Given the description of an element on the screen output the (x, y) to click on. 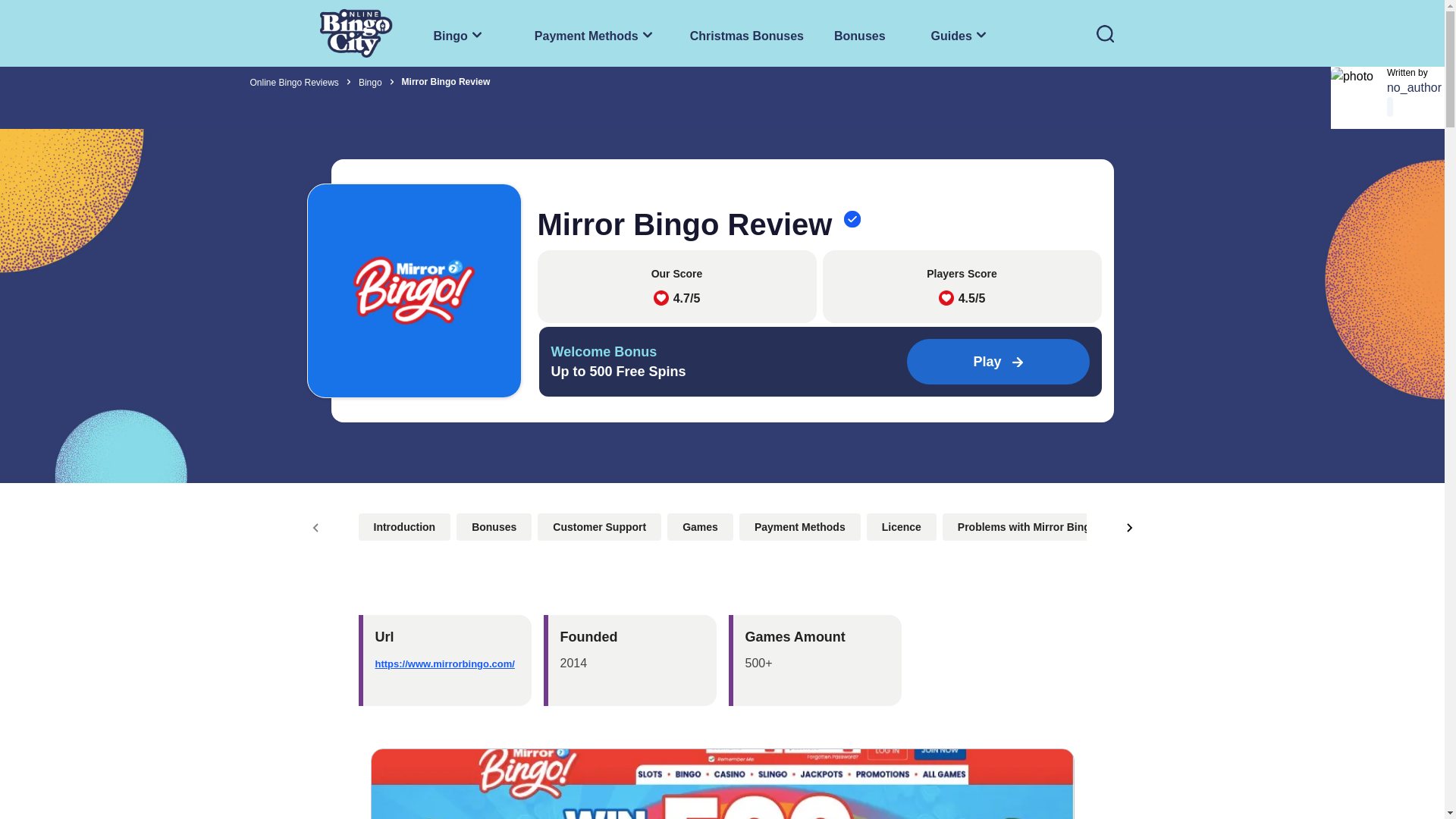
Logo (356, 33)
Christmas Bonuses (749, 33)
Mirror Bingo (746, 33)
Guides (413, 290)
Bingo (960, 33)
Payment Methods (369, 81)
search (595, 33)
Bonuses (1103, 33)
Online Bingo Reviews (859, 33)
